Given the description of an element on the screen output the (x, y) to click on. 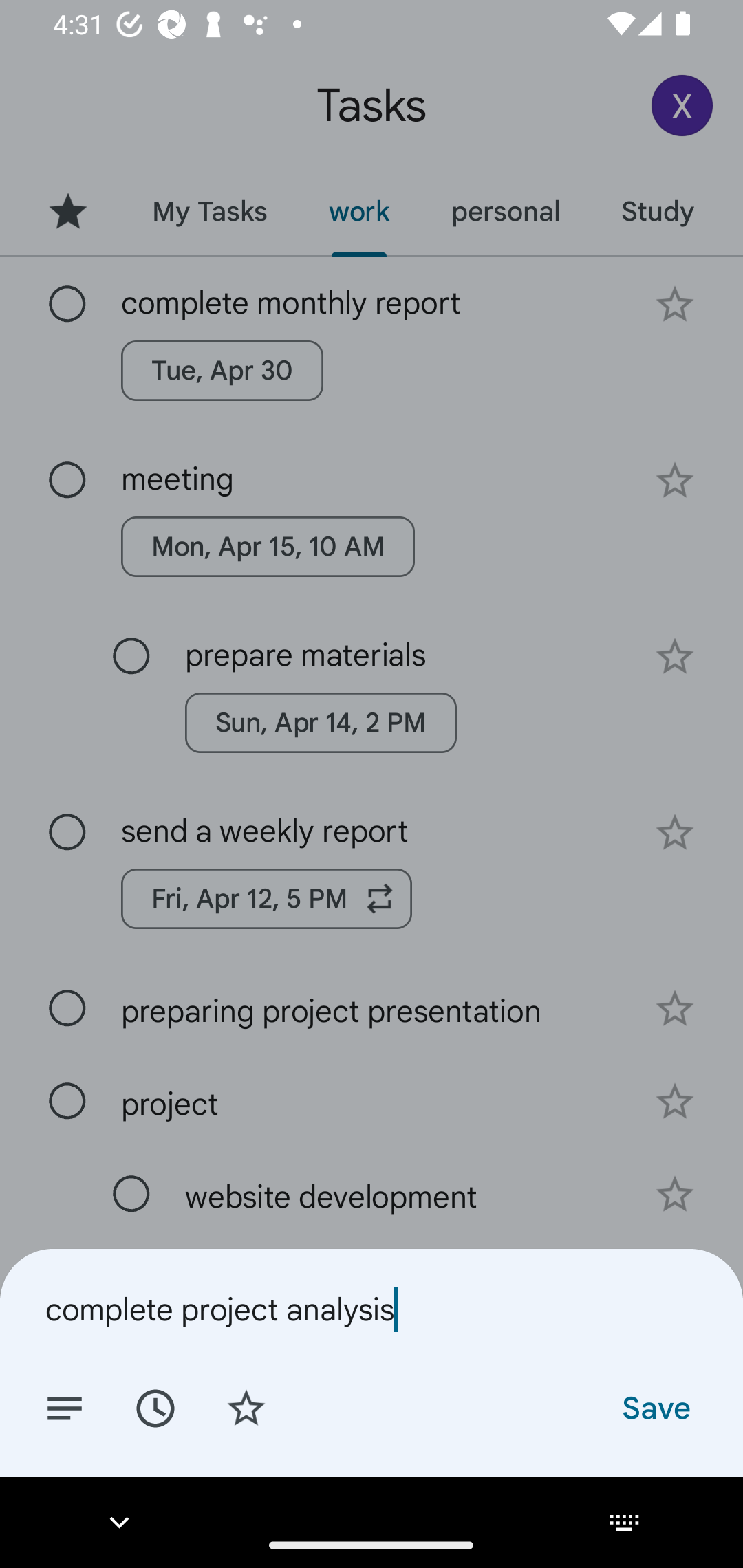
complete project analysis (371, 1308)
Save (655, 1407)
Add details (64, 1407)
Set date/time (154, 1407)
Add star (245, 1407)
